Given the description of an element on the screen output the (x, y) to click on. 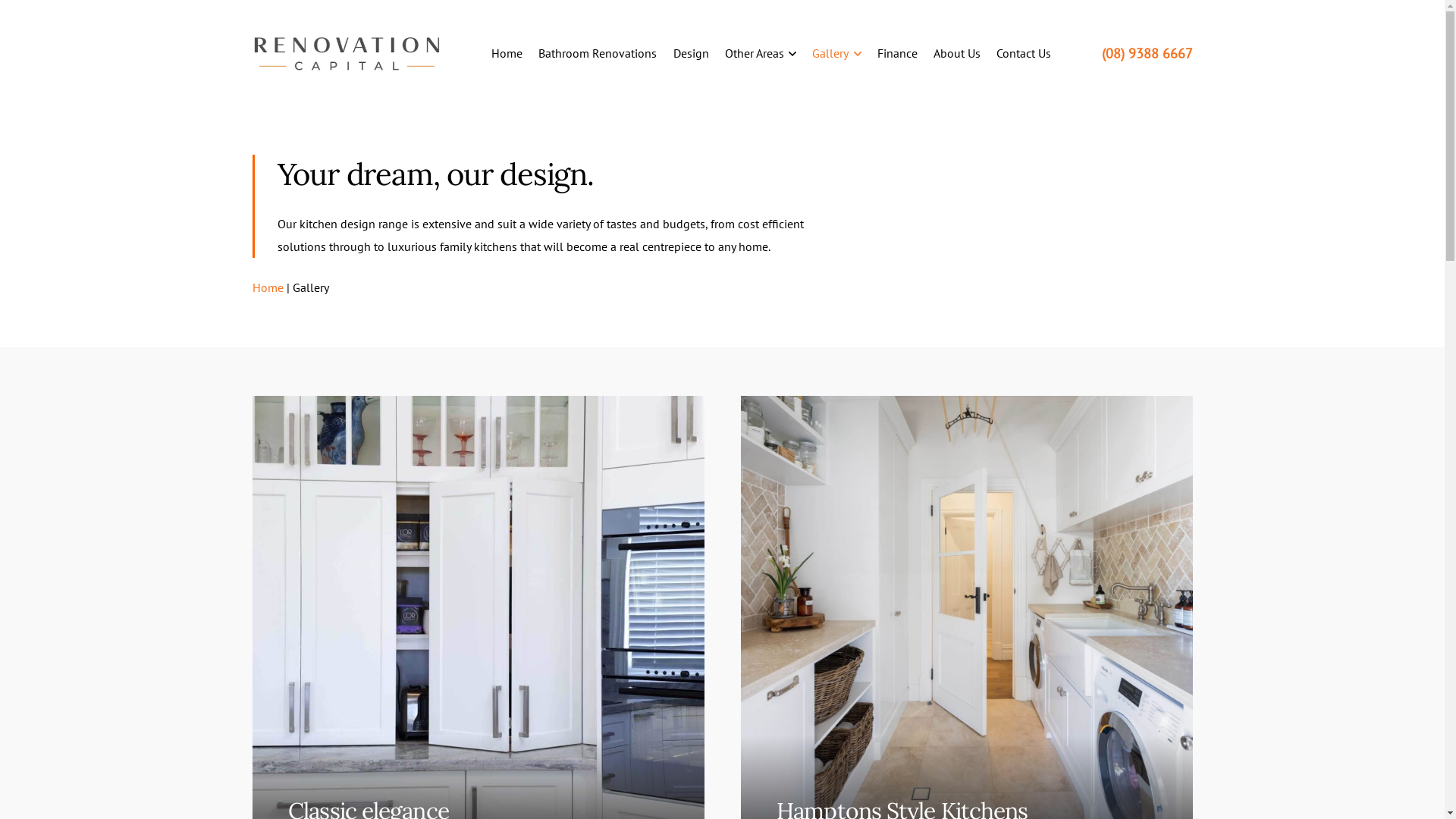
Bathroom Renovations Element type: text (597, 52)
Finance Element type: text (897, 52)
Home Element type: text (266, 286)
Contact Us Element type: text (1023, 52)
Design Element type: text (691, 52)
About Us Element type: text (956, 52)
(08) 9388 6667 Element type: text (1146, 52)
Gallery Element type: text (836, 52)
Home Element type: text (506, 52)
Other Areas Element type: text (760, 52)
